Given the description of an element on the screen output the (x, y) to click on. 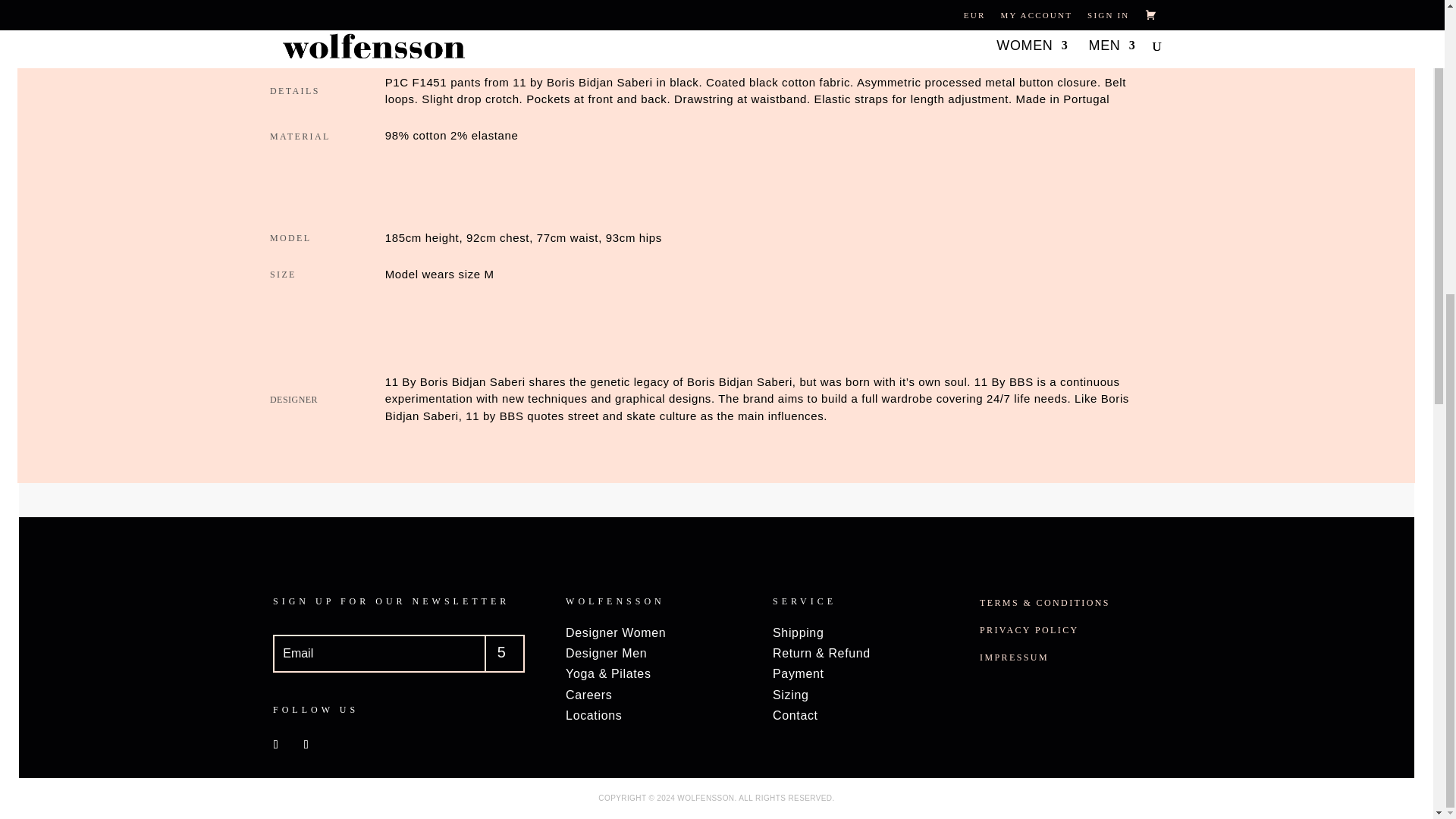
Follow on Facebook (275, 744)
Follow on Instagram (306, 744)
